Given the description of an element on the screen output the (x, y) to click on. 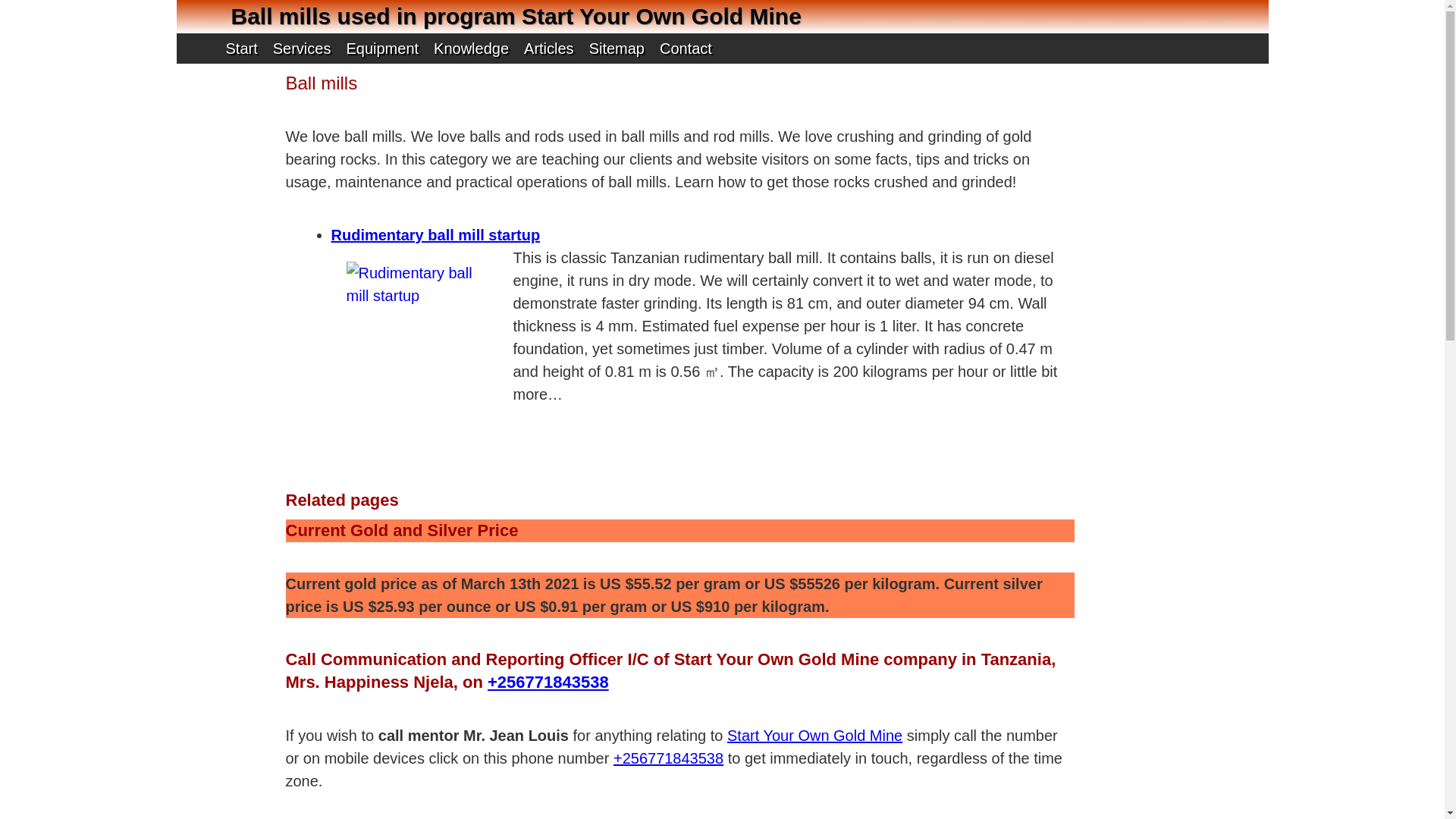
Articles (548, 48)
Equipment (382, 48)
Start Your Own Gold Mine (814, 735)
Knowledge (814, 735)
Sitemap (470, 48)
Rudimentary ball mill startup (616, 48)
Rudimentary ball mill startup (435, 234)
Services (421, 322)
Rudimentary ball mill startup (301, 48)
Start (435, 234)
Contact (240, 48)
